Given the description of an element on the screen output the (x, y) to click on. 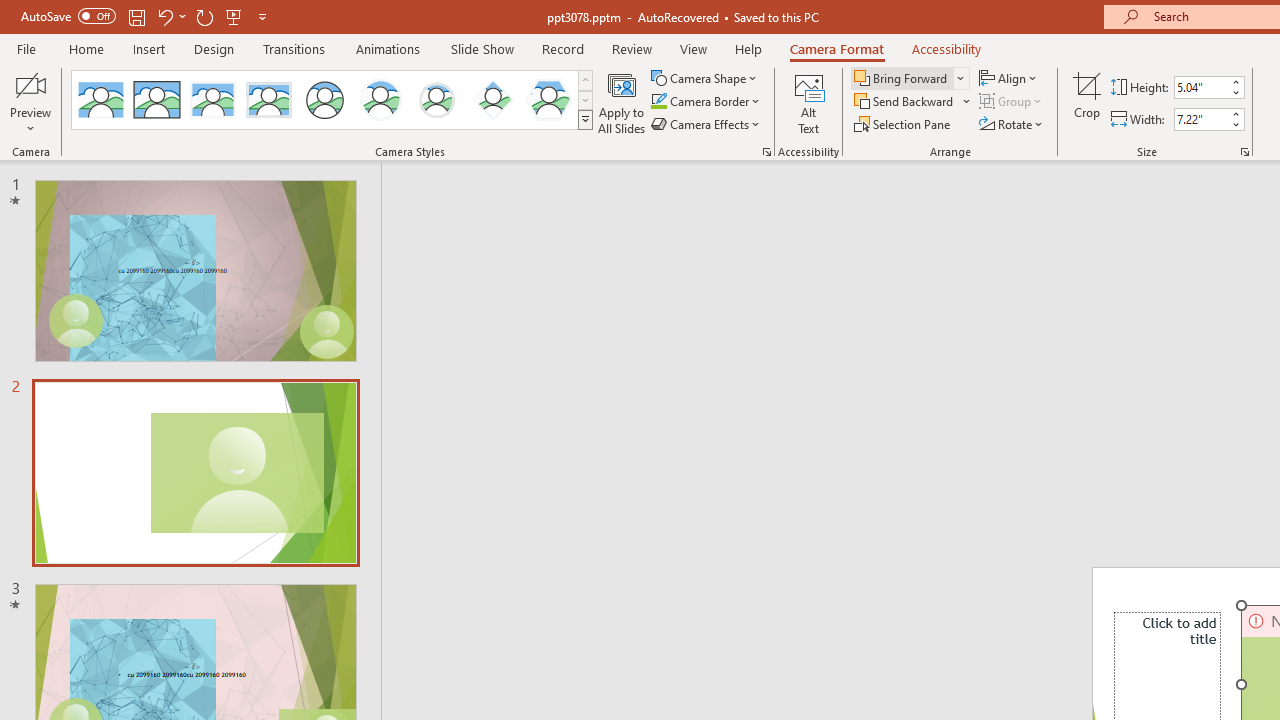
Soft Edge Circle (436, 100)
Send Backward (905, 101)
Size and Position... (1244, 151)
Center Shadow Diamond (492, 100)
Camera Shape (705, 78)
Camera Format (836, 48)
Cameo Height (1201, 87)
Center Shadow Hexagon (548, 100)
